Given the description of an element on the screen output the (x, y) to click on. 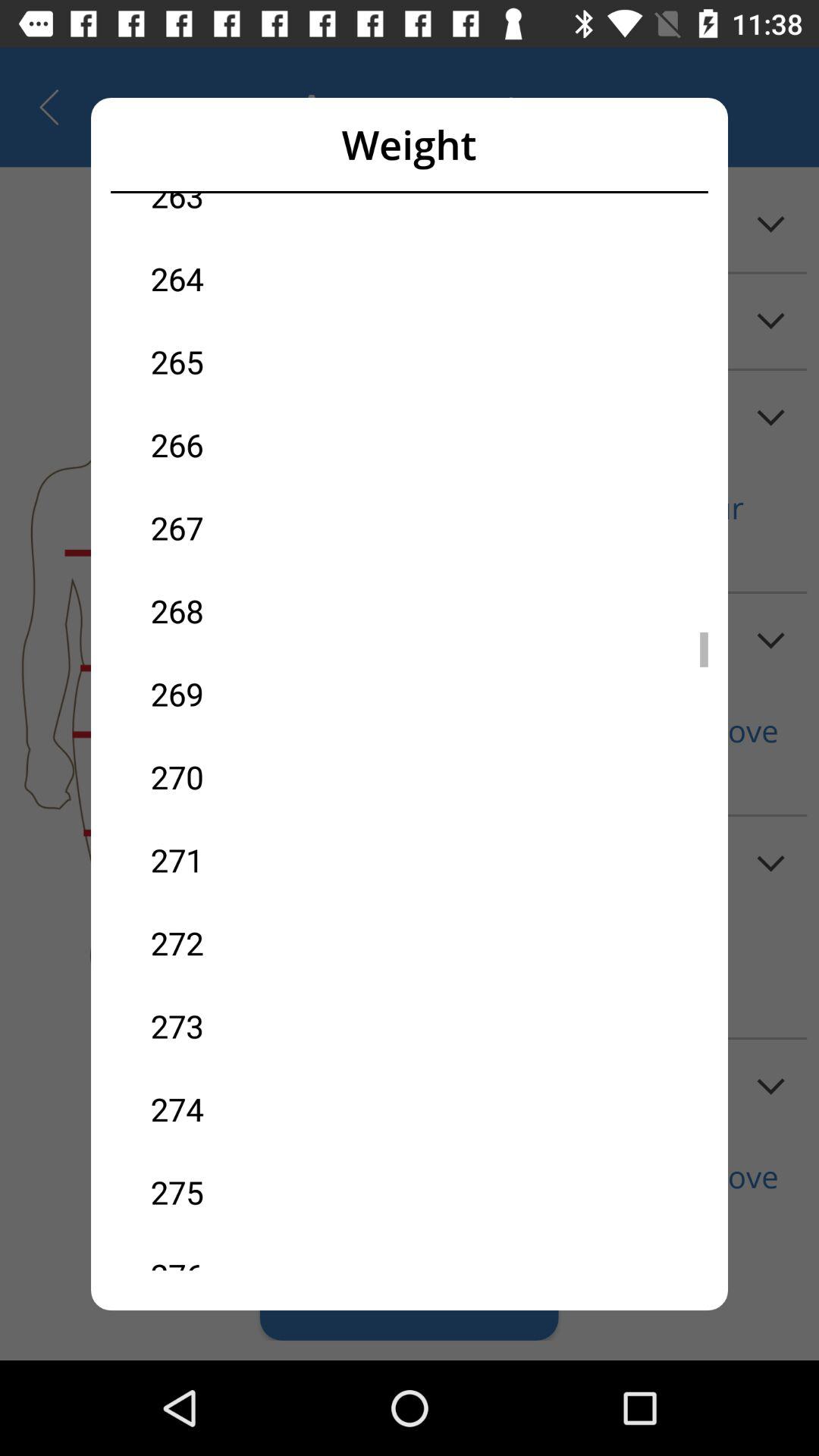
tap item above the 271 (279, 776)
